Given the description of an element on the screen output the (x, y) to click on. 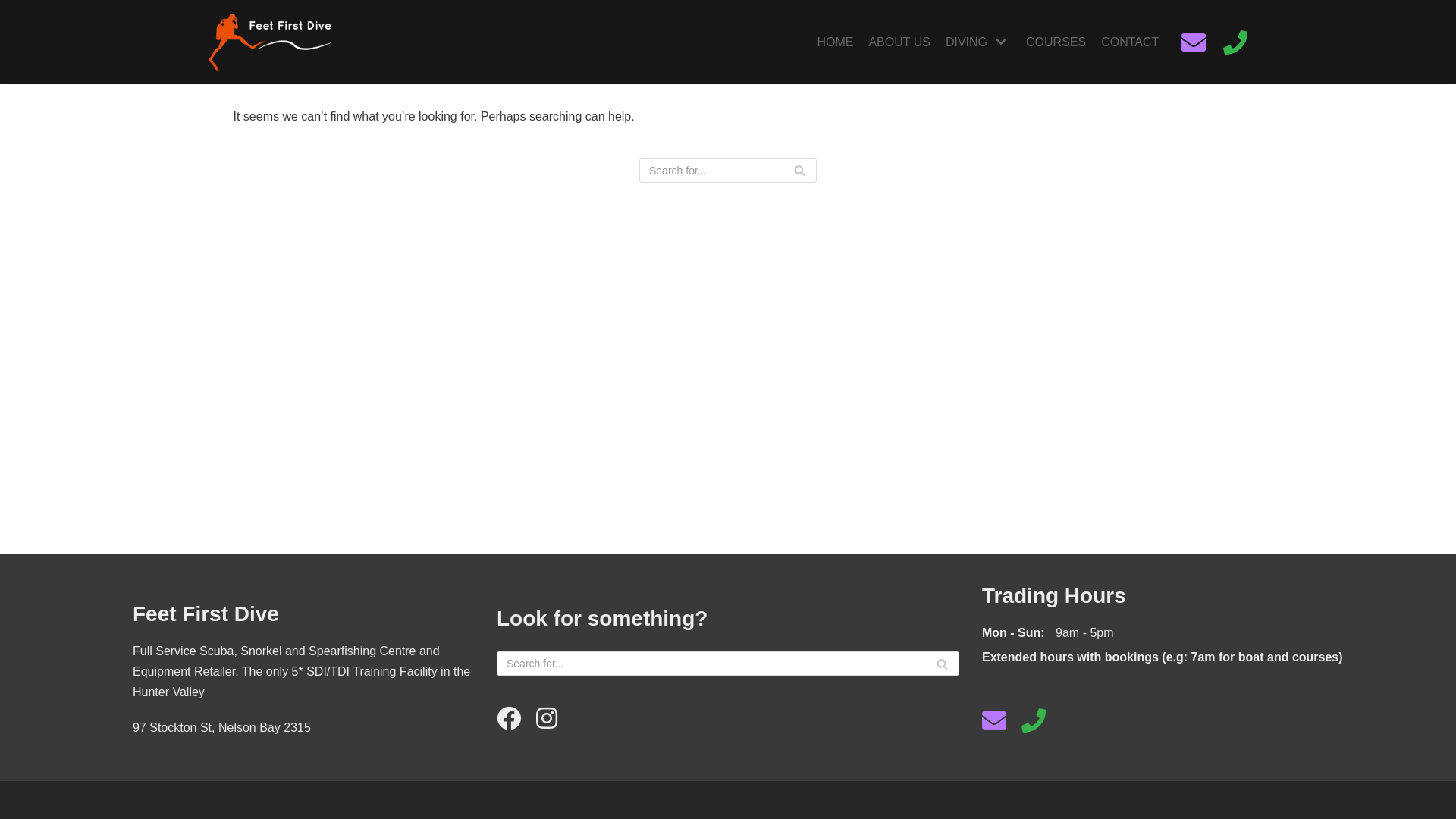
Skip to content Element type: text (15, 7)
CONTACT Element type: text (1129, 42)
HOME Element type: text (834, 42)
ABOUT US Element type: text (899, 42)
DIVING Element type: text (977, 41)
COURSES Element type: text (1055, 42)
Feet First Dive Element type: hover (270, 41)
